Given the description of an element on the screen output the (x, y) to click on. 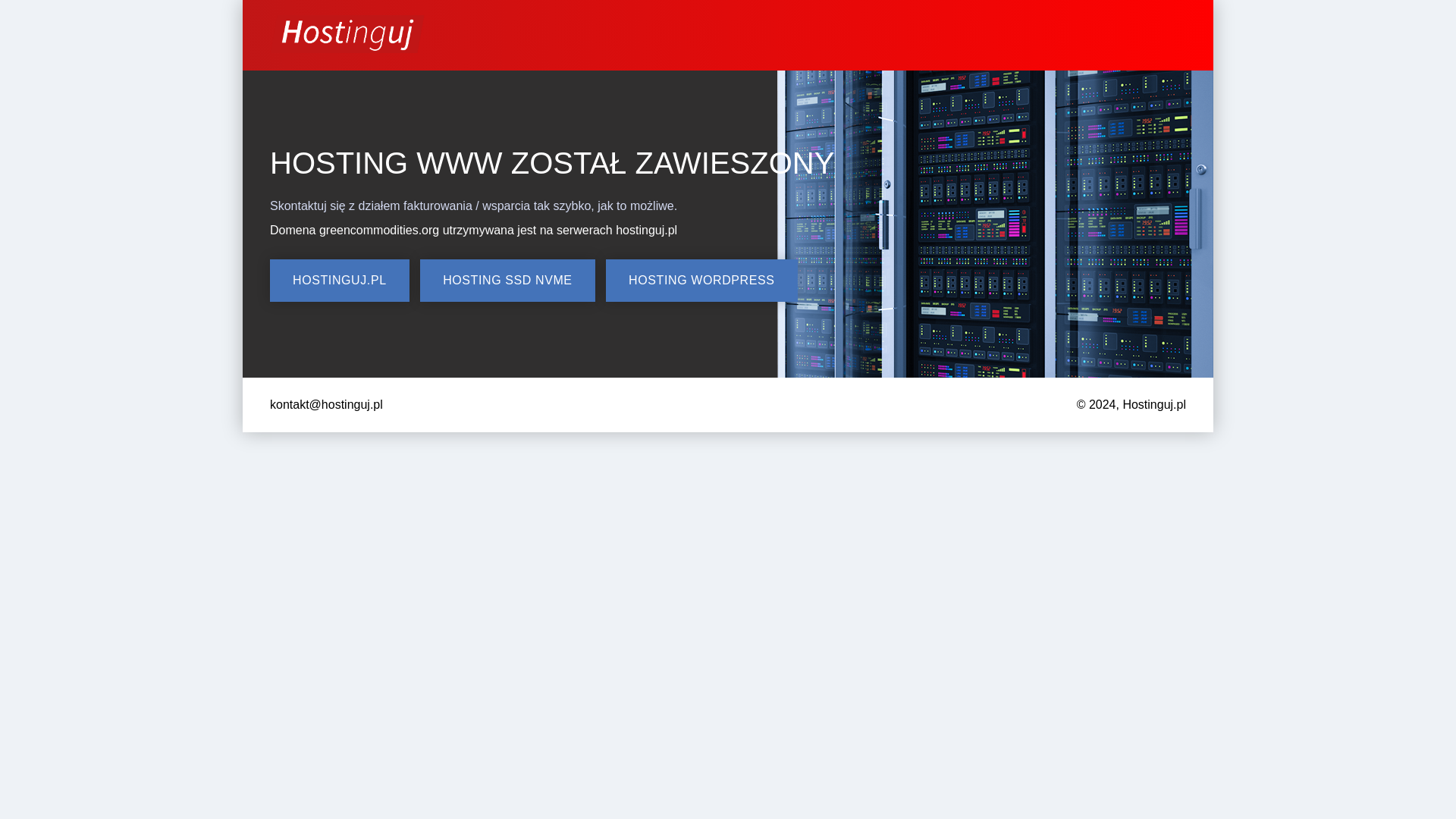
HOSTING SSD NVME (507, 280)
Hostinguj.pl - Hosting i domeny (339, 280)
Hosting SSD NVMe (507, 280)
HOSTING WORDPRESS (700, 280)
HOSTINGUJ.PL (339, 280)
Hosting WordPress (700, 280)
